Given the description of an element on the screen output the (x, y) to click on. 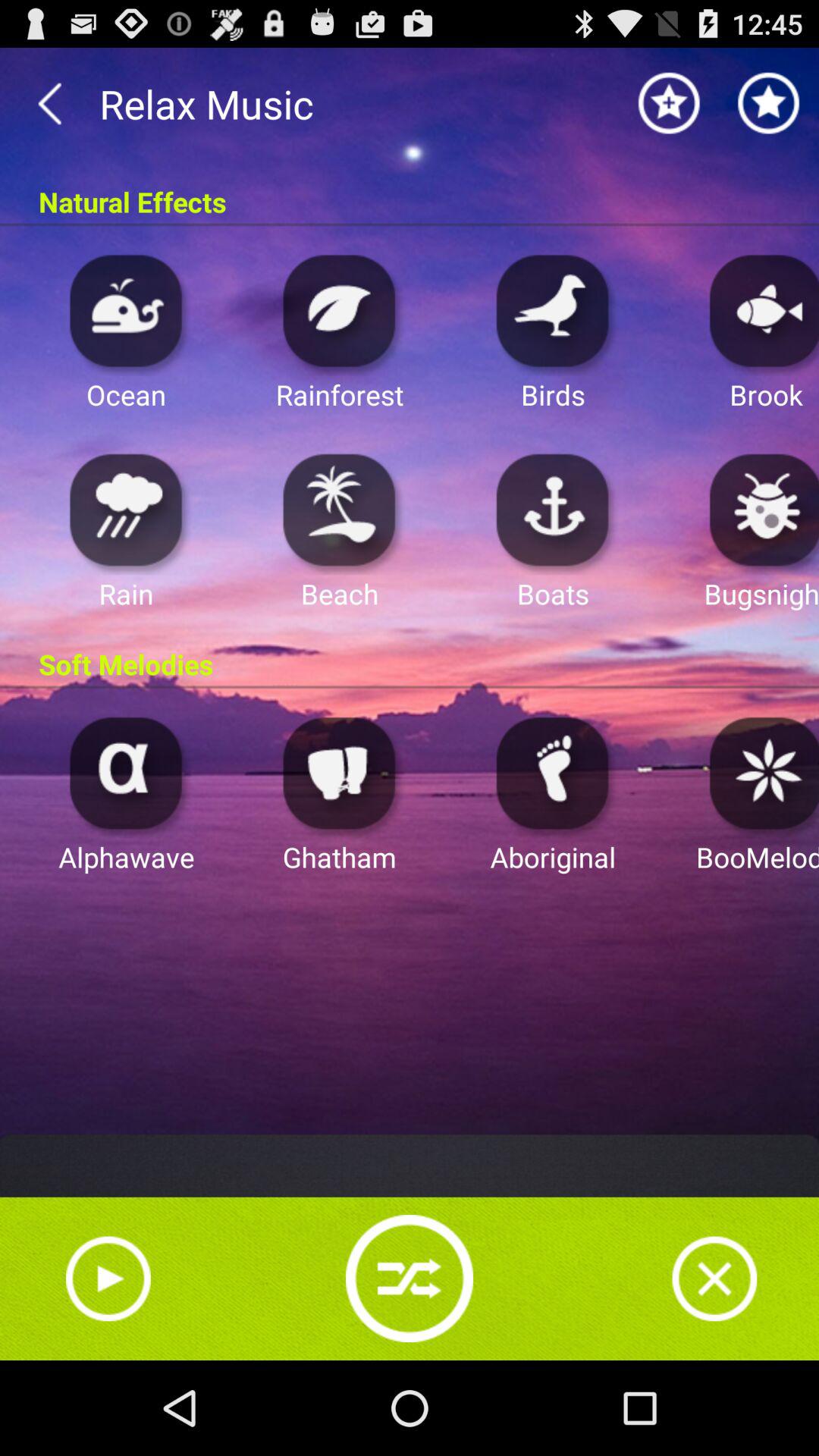
beach (339, 509)
